Given the description of an element on the screen output the (x, y) to click on. 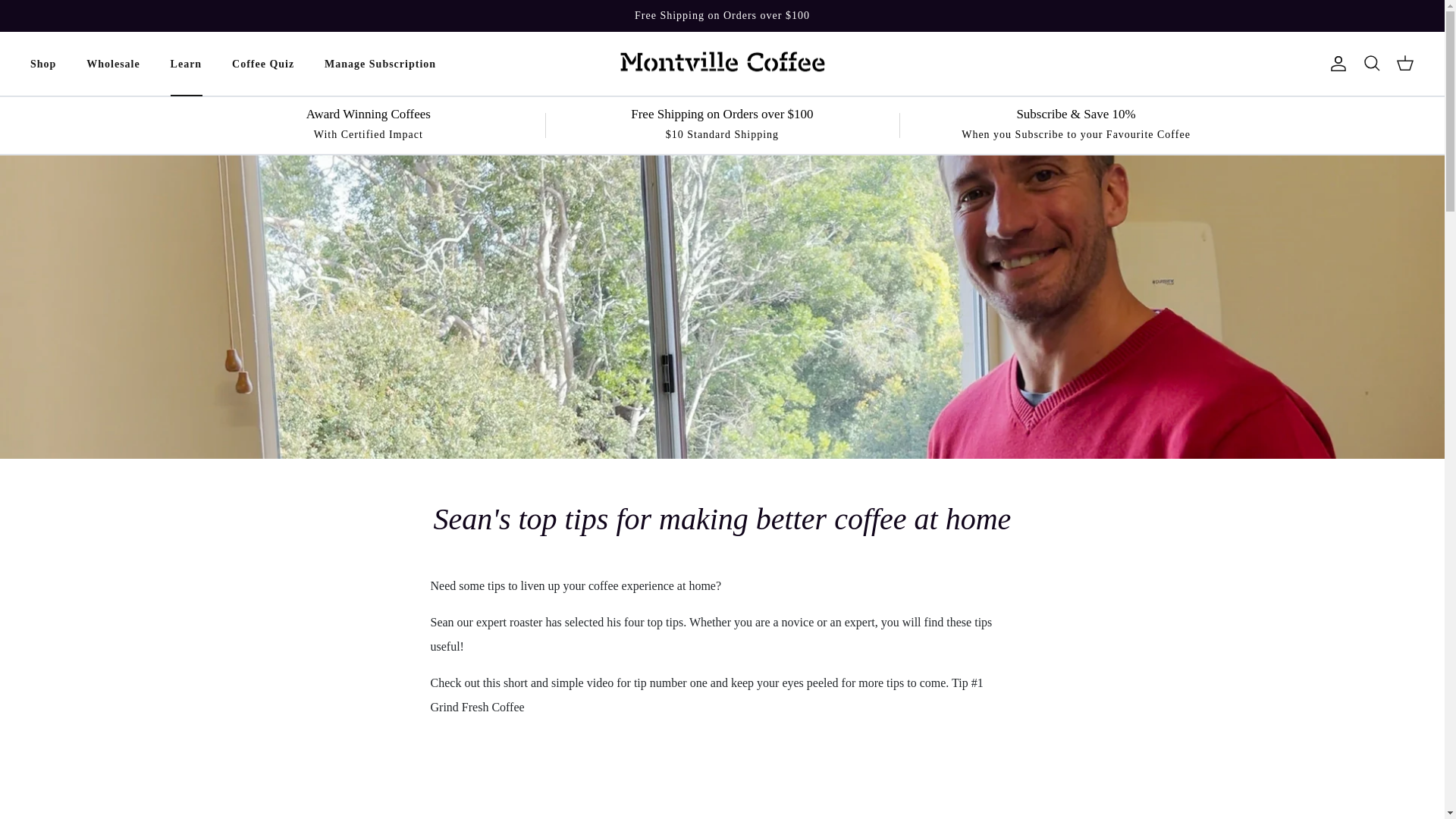
Search (1371, 63)
Account (1335, 63)
Montville Coffee (722, 63)
Coffee Quiz (262, 63)
Shop (42, 63)
Manage Subscription (380, 63)
Learn (186, 63)
Wholesale (112, 63)
Cart (1404, 63)
